Given the description of an element on the screen output the (x, y) to click on. 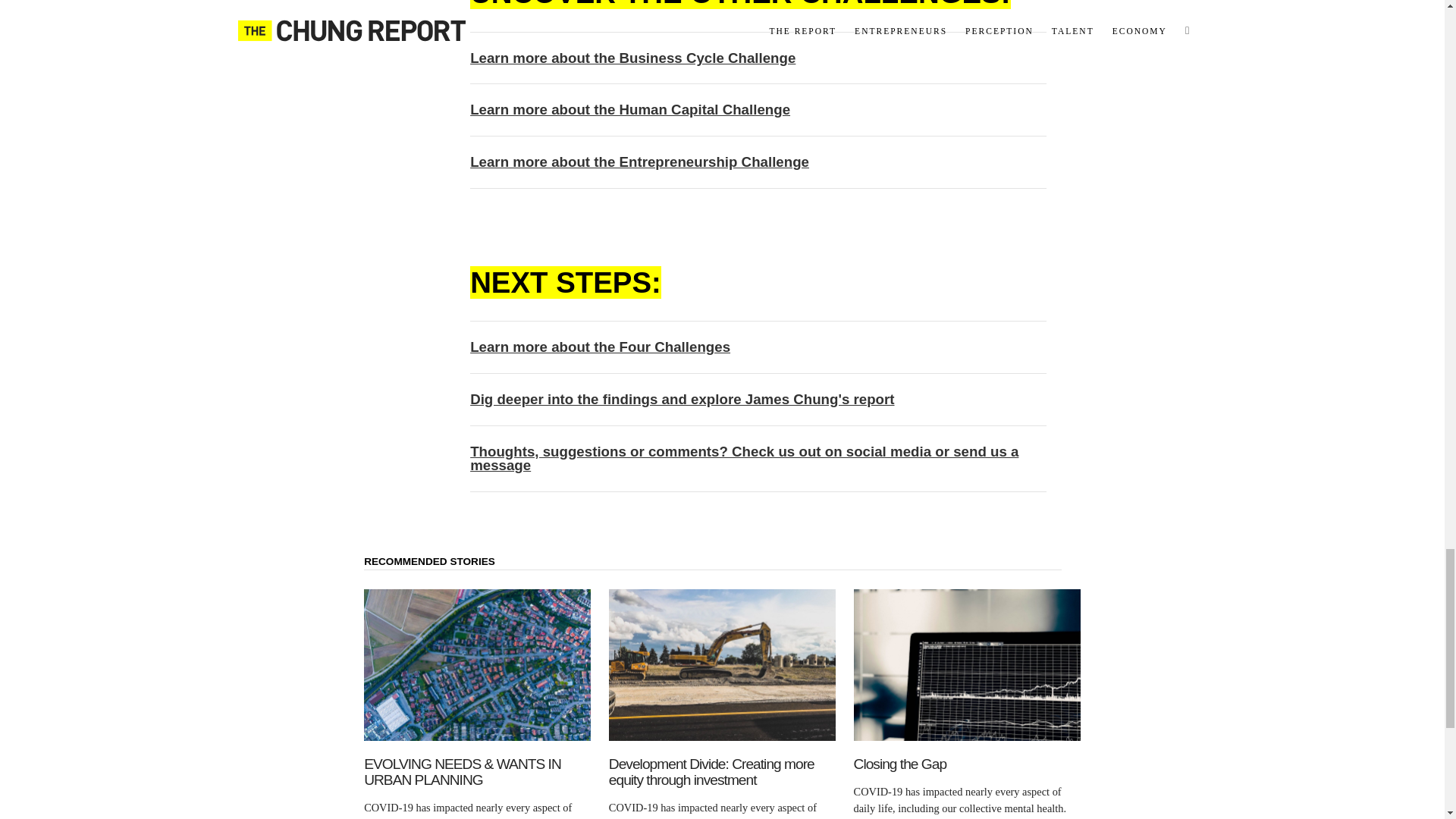
Learn more about the Entrepreneurship Challenge (639, 161)
Learn more about the Human Capital Challenge (630, 109)
Development Divide: Creating more equity through investment (721, 771)
Learn more about the Business Cycle Challenge (632, 57)
Learn more about the Four Challenges (600, 346)
Closing the Gap (966, 763)
